Given the description of an element on the screen output the (x, y) to click on. 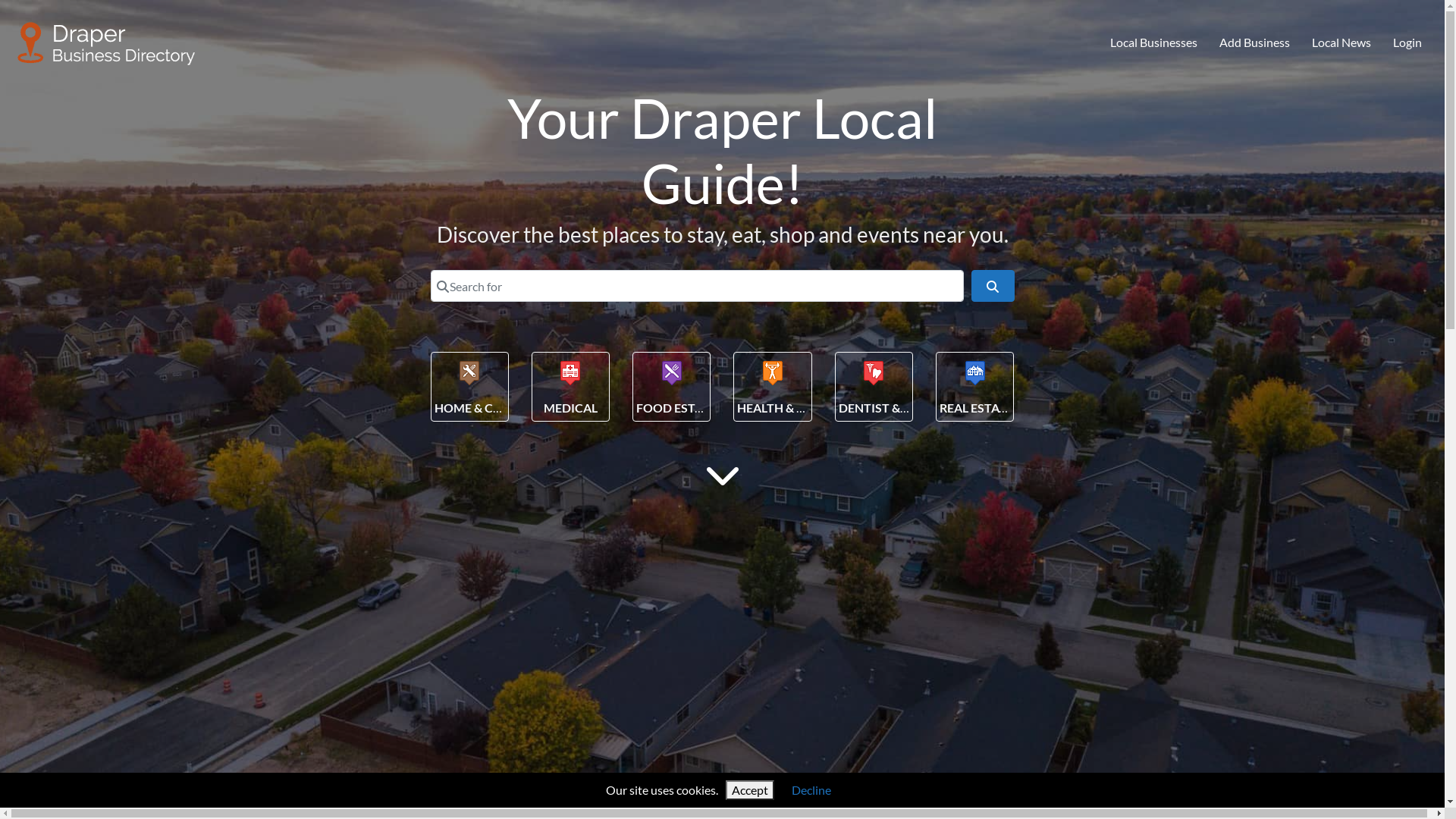
DENTIST & ORTHODONTIST Element type: text (919, 407)
MEDICAL Element type: text (570, 407)
Login Element type: text (1406, 42)
Accept Element type: text (749, 790)
FOOD ESTABLISHMENT Element type: text (703, 407)
REAL ESTATE Element type: text (976, 407)
Add Business Element type: text (1254, 42)
HOME & CONSTRUCTION Element type: text (506, 407)
Local Businesses Element type: text (1153, 42)
Local News Element type: text (1340, 42)
Draper Business Directory Element type: hover (106, 40)
Search Element type: text (992, 285)
Decline Element type: text (811, 789)
HEALTH & BEAUTY Element type: text (790, 407)
